Given the description of an element on the screen output the (x, y) to click on. 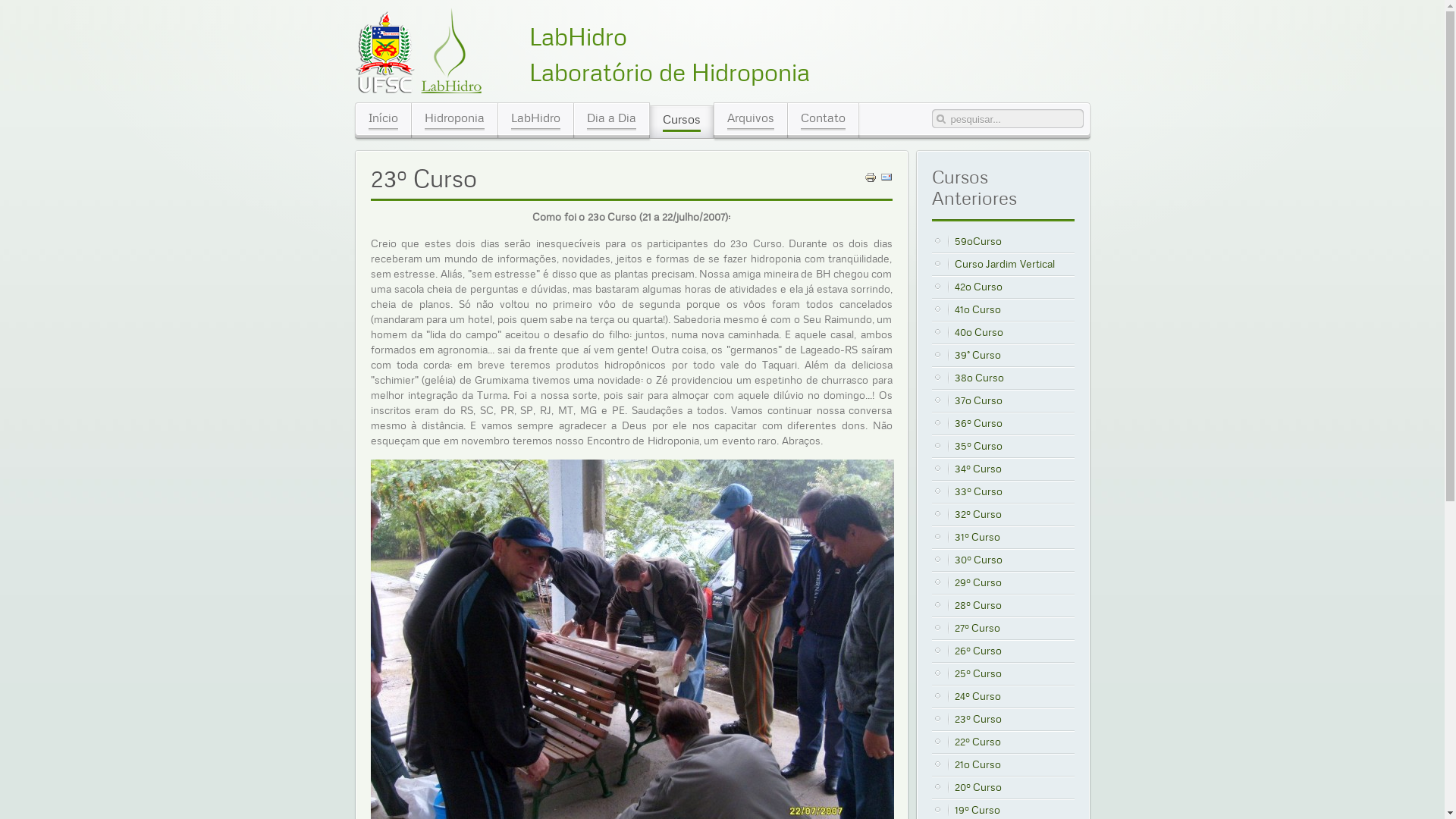
Imprimir Element type: hover (870, 179)
Arquivos Element type: text (750, 118)
37o Curso Element type: text (1013, 399)
Reset Element type: text (3, 3)
21o Curso Element type: text (1013, 763)
59oCurso Element type: text (1013, 240)
42o Curso Element type: text (1013, 286)
LabHidro Element type: text (534, 118)
Contato Element type: text (822, 118)
40o Curso Element type: text (1013, 331)
41o Curso Element type: text (1013, 308)
Curso Jardim Vertical Element type: text (1013, 263)
38o Curso Element type: text (1013, 377)
E-mail Element type: hover (885, 179)
Hidroponia Element type: text (453, 118)
Cursos Element type: text (680, 121)
